Given the description of an element on the screen output the (x, y) to click on. 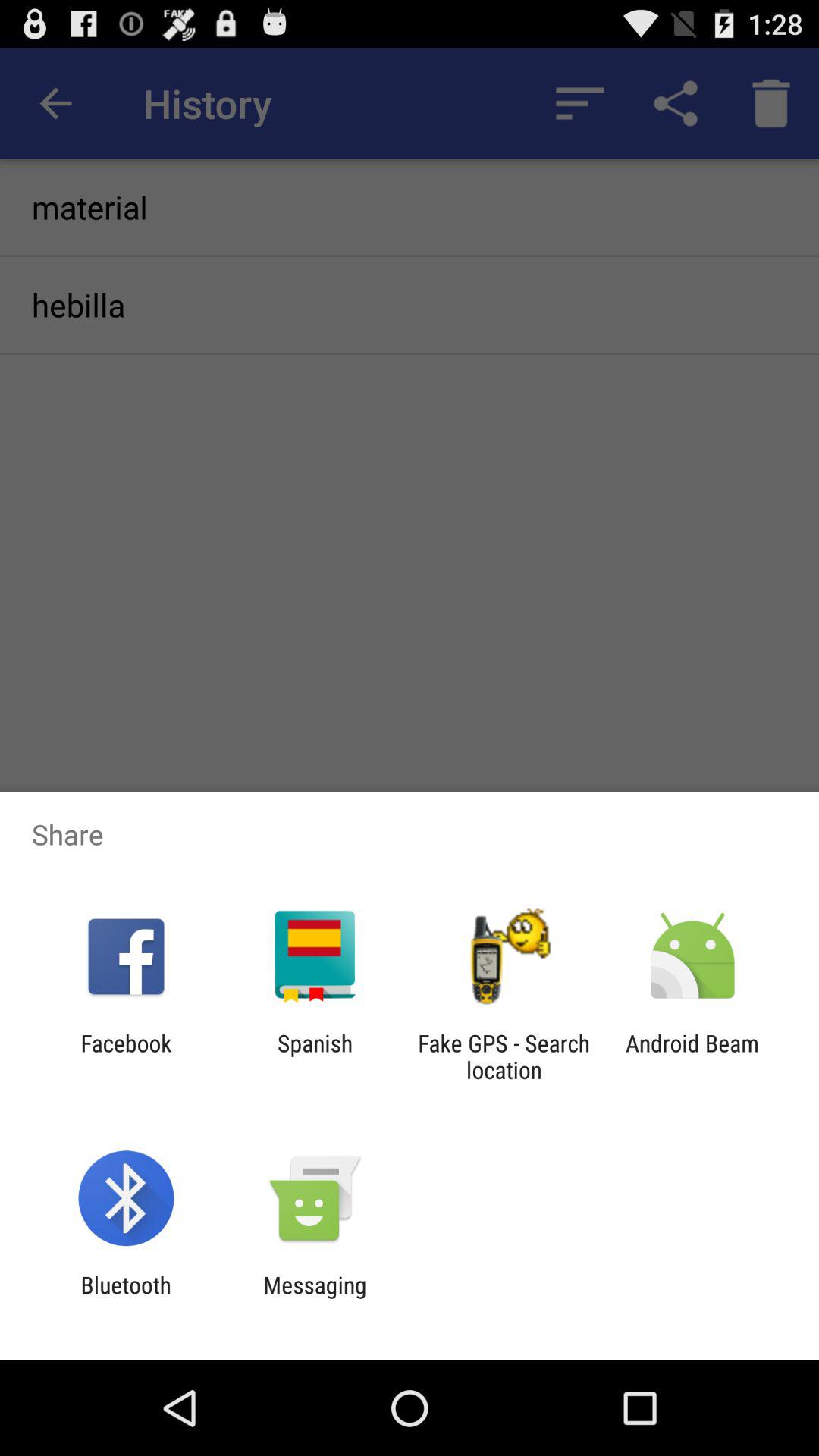
open the facebook item (125, 1056)
